Given the description of an element on the screen output the (x, y) to click on. 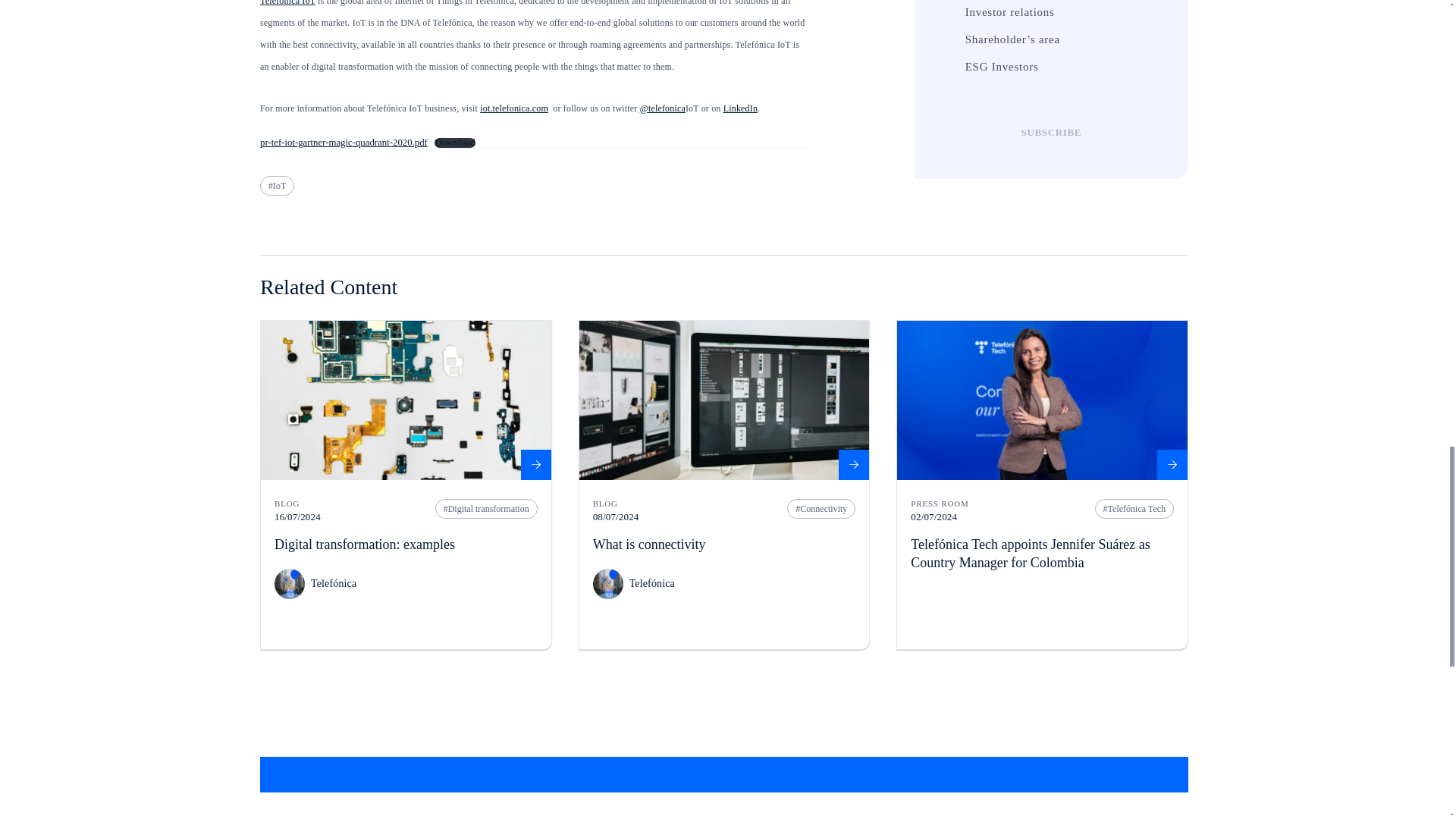
Investor relations (948, 11)
Shareholder's area (948, 38)
ESG Investors (948, 66)
